Given the description of an element on the screen output the (x, y) to click on. 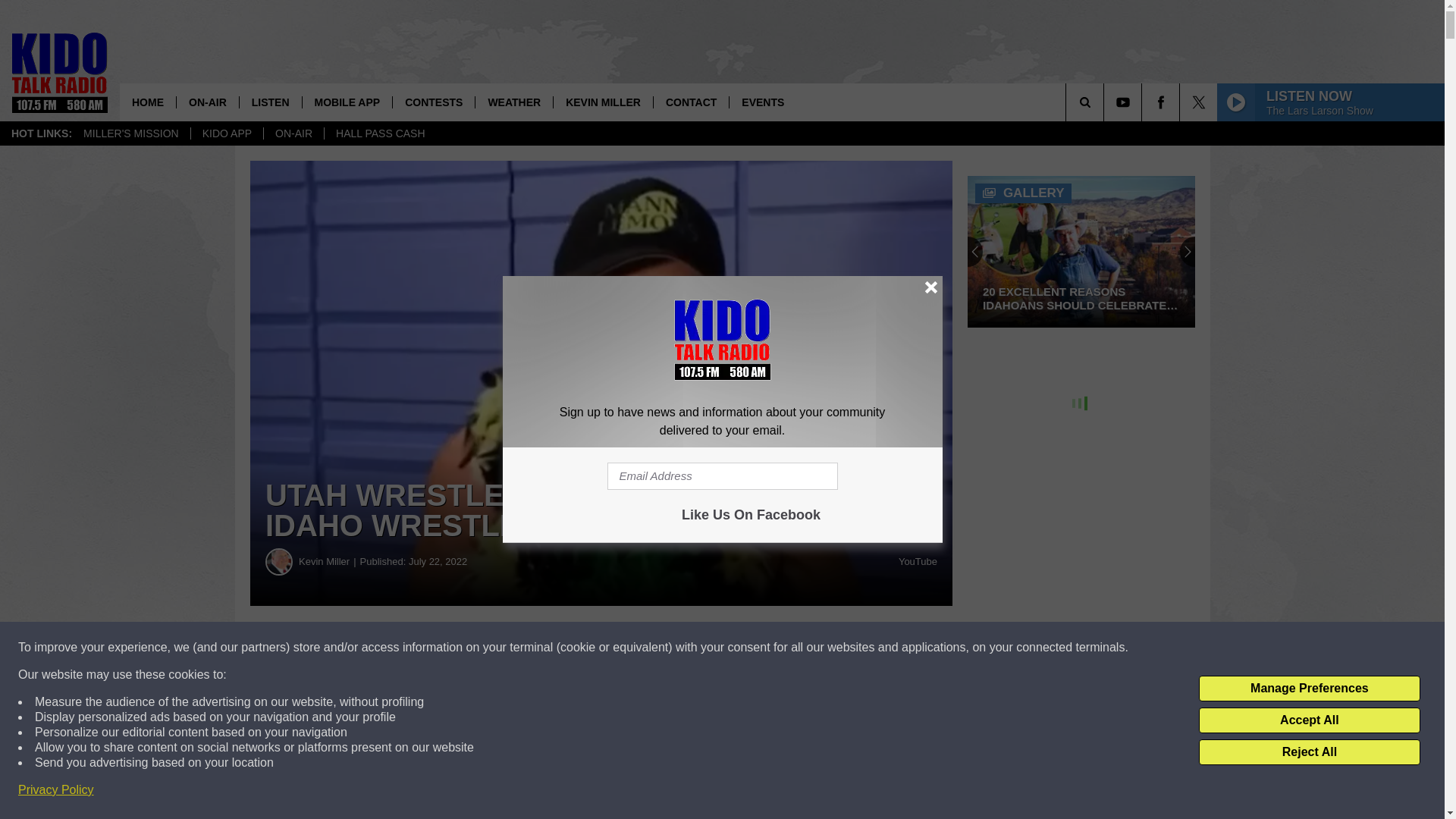
ON-AIR (293, 133)
MOBILE APP (347, 102)
Accept All (1309, 720)
HOME (147, 102)
WEATHER (513, 102)
Privacy Policy (55, 789)
Manage Preferences (1309, 688)
LISTEN (269, 102)
MILLER'S MISSION (130, 133)
HALL PASS CASH (379, 133)
KIDO APP (226, 133)
SEARCH (1106, 102)
Share on Facebook (460, 647)
CONTESTS (432, 102)
Reject All (1309, 751)
